Given the description of an element on the screen output the (x, y) to click on. 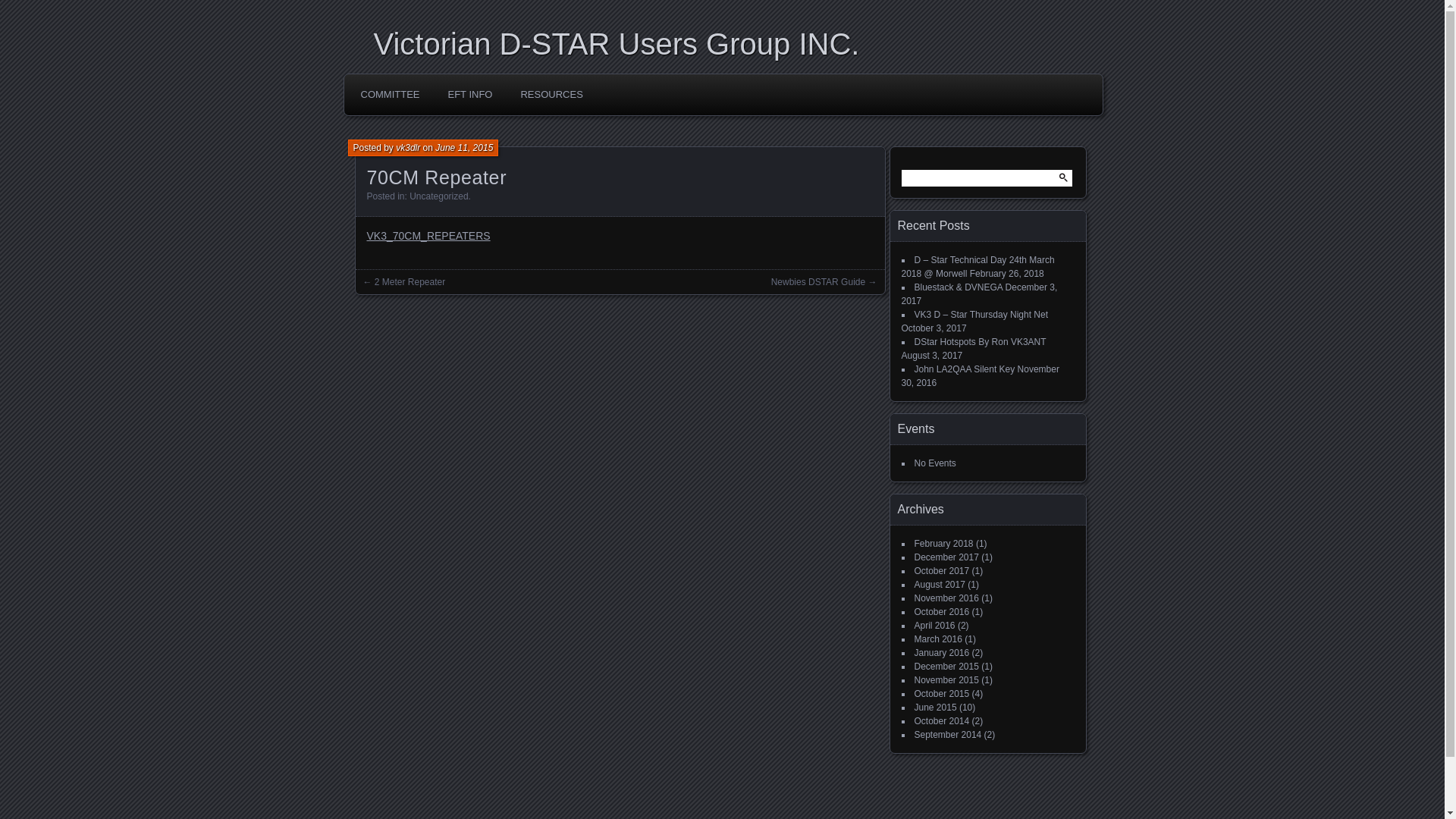
October 2014 Element type: text (941, 720)
August 2017 Element type: text (939, 584)
2 Meter Repeater Element type: text (409, 281)
Newbies DSTAR Guide Element type: text (818, 281)
COMMITTEE Element type: text (389, 94)
December 2017 Element type: text (946, 557)
Victorian D-STAR Users Group INC. Element type: text (727, 44)
December 2015 Element type: text (946, 666)
VK3_70CM_REPEATERS Element type: text (428, 235)
January 2016 Element type: text (941, 652)
October 2017 Element type: text (941, 570)
June 11, 2015 Element type: text (463, 147)
EFT INFO Element type: text (470, 94)
Uncategorized Element type: text (438, 196)
November 2016 Element type: text (946, 598)
November 2015 Element type: text (946, 679)
October 2016 Element type: text (941, 611)
March 2016 Element type: text (938, 638)
RESOURCES Element type: text (550, 94)
Bluestack & DVNEGA Element type: text (958, 287)
September 2014 Element type: text (948, 734)
John LA2QAA Silent Key Element type: text (964, 369)
February 2018 Element type: text (943, 543)
June 2015 Element type: text (935, 707)
April 2016 Element type: text (934, 625)
October 2015 Element type: text (941, 693)
DStar Hotspots By Ron VK3ANT Element type: text (980, 341)
vk3dlr Element type: text (407, 147)
Search Element type: text (21, 7)
